Given the description of an element on the screen output the (x, y) to click on. 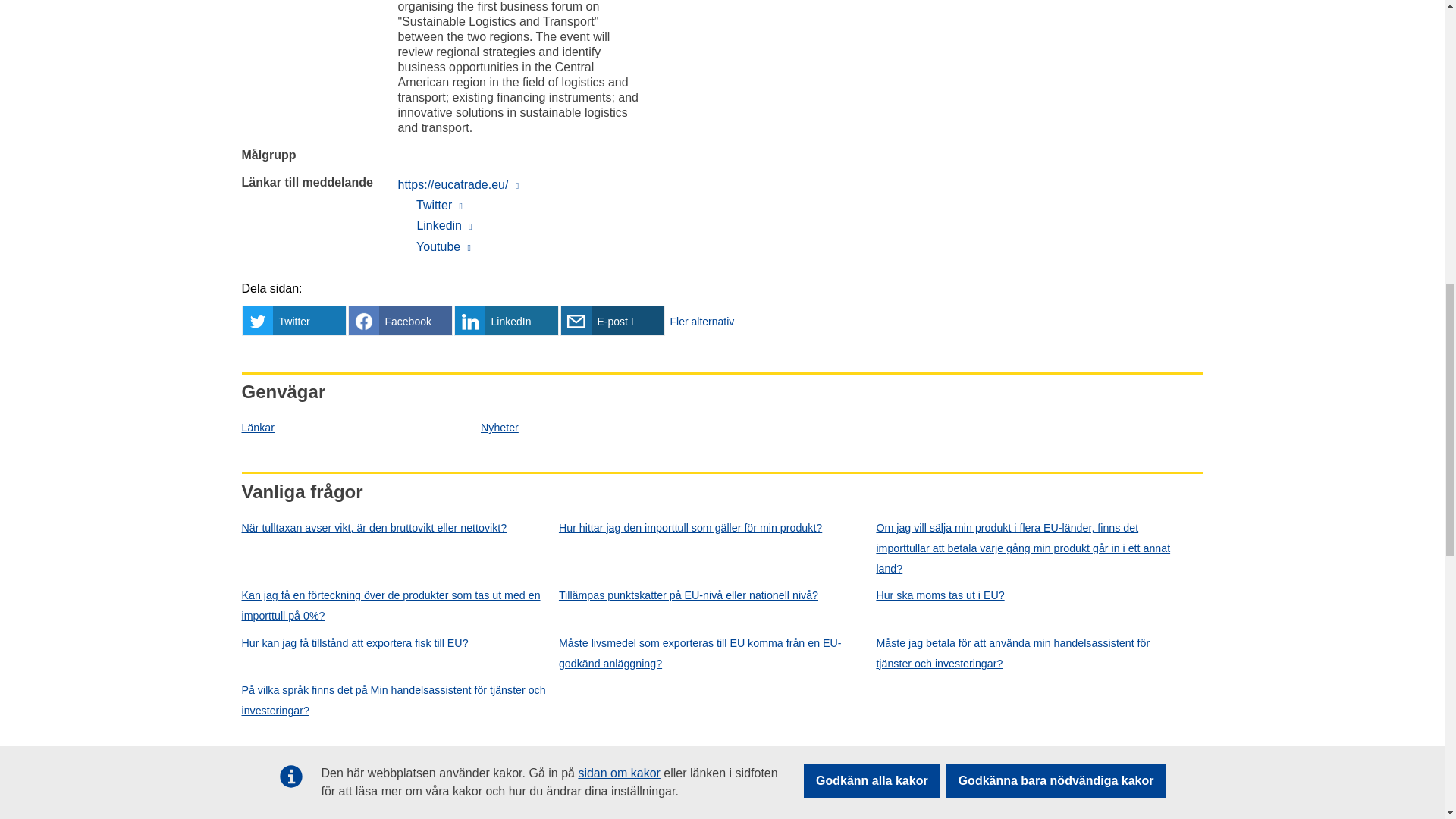
Twitter (293, 320)
E-post (611, 320)
LinkedIn (504, 320)
Facebook (399, 320)
